Given the description of an element on the screen output the (x, y) to click on. 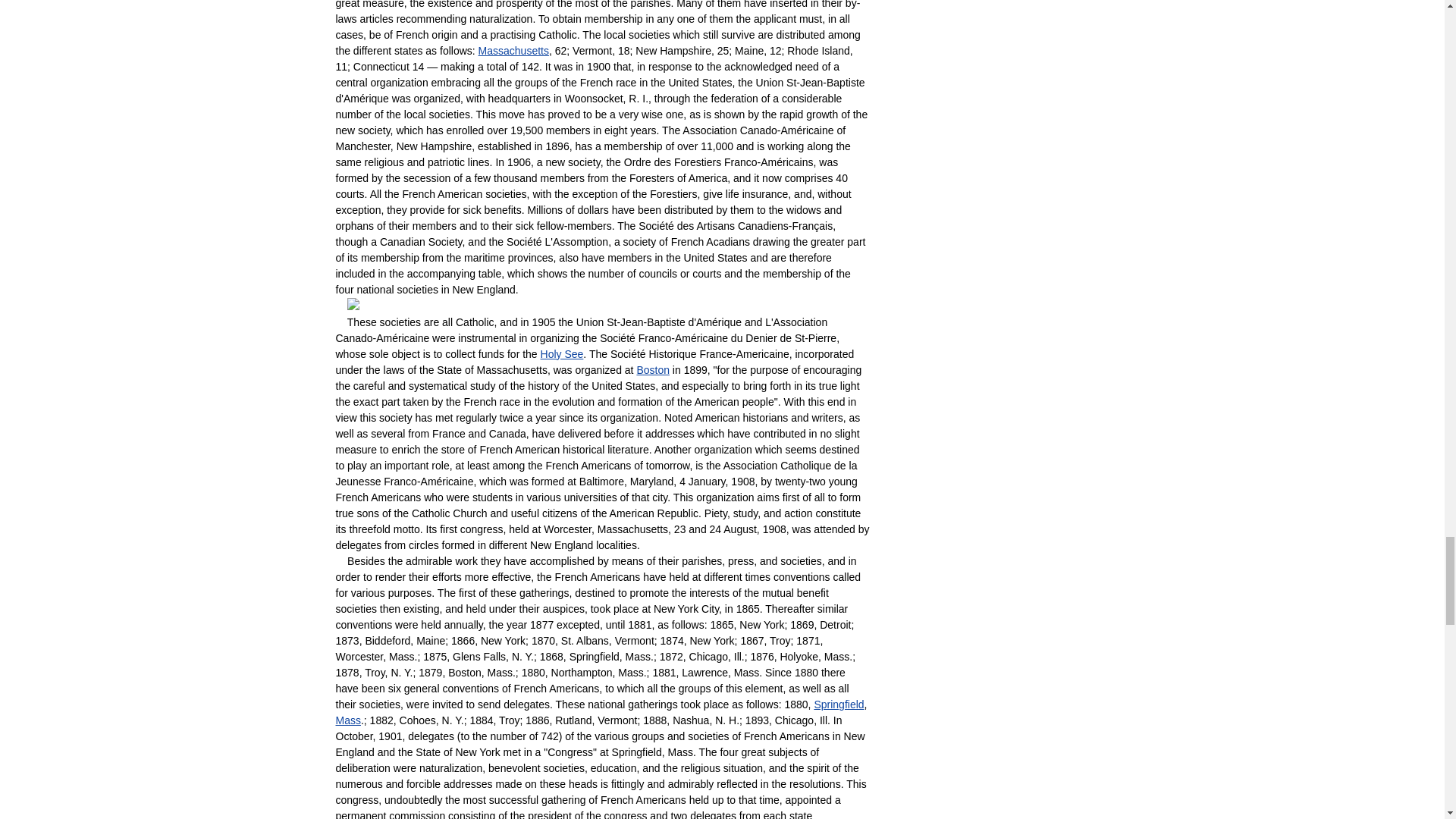
Massachusetts (513, 50)
Springfield (838, 704)
Mass (346, 720)
Holy See (561, 354)
Boston (652, 369)
